Given the description of an element on the screen output the (x, y) to click on. 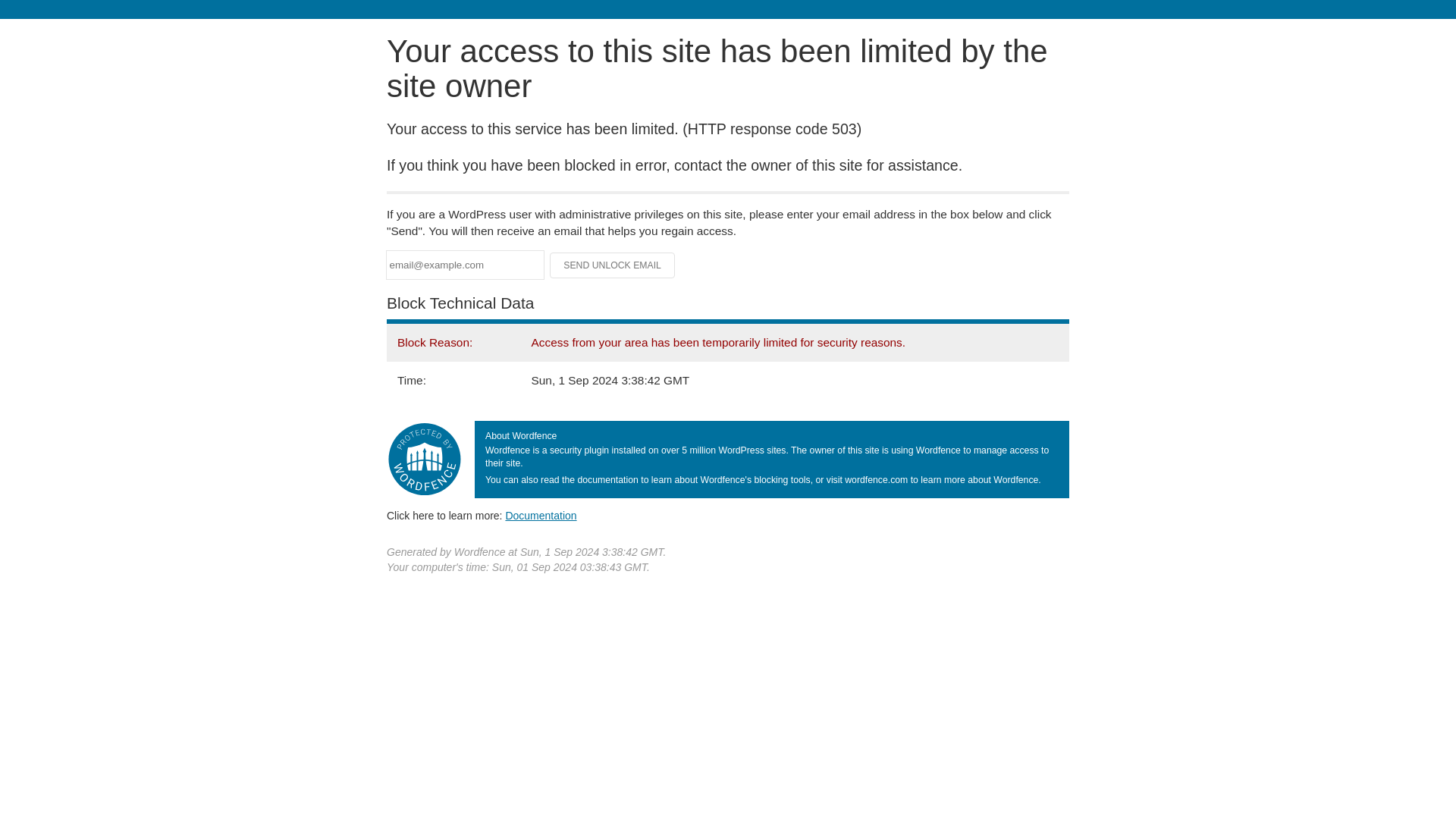
Send Unlock Email (612, 265)
Documentation (540, 515)
Send Unlock Email (612, 265)
